Given the description of an element on the screen output the (x, y) to click on. 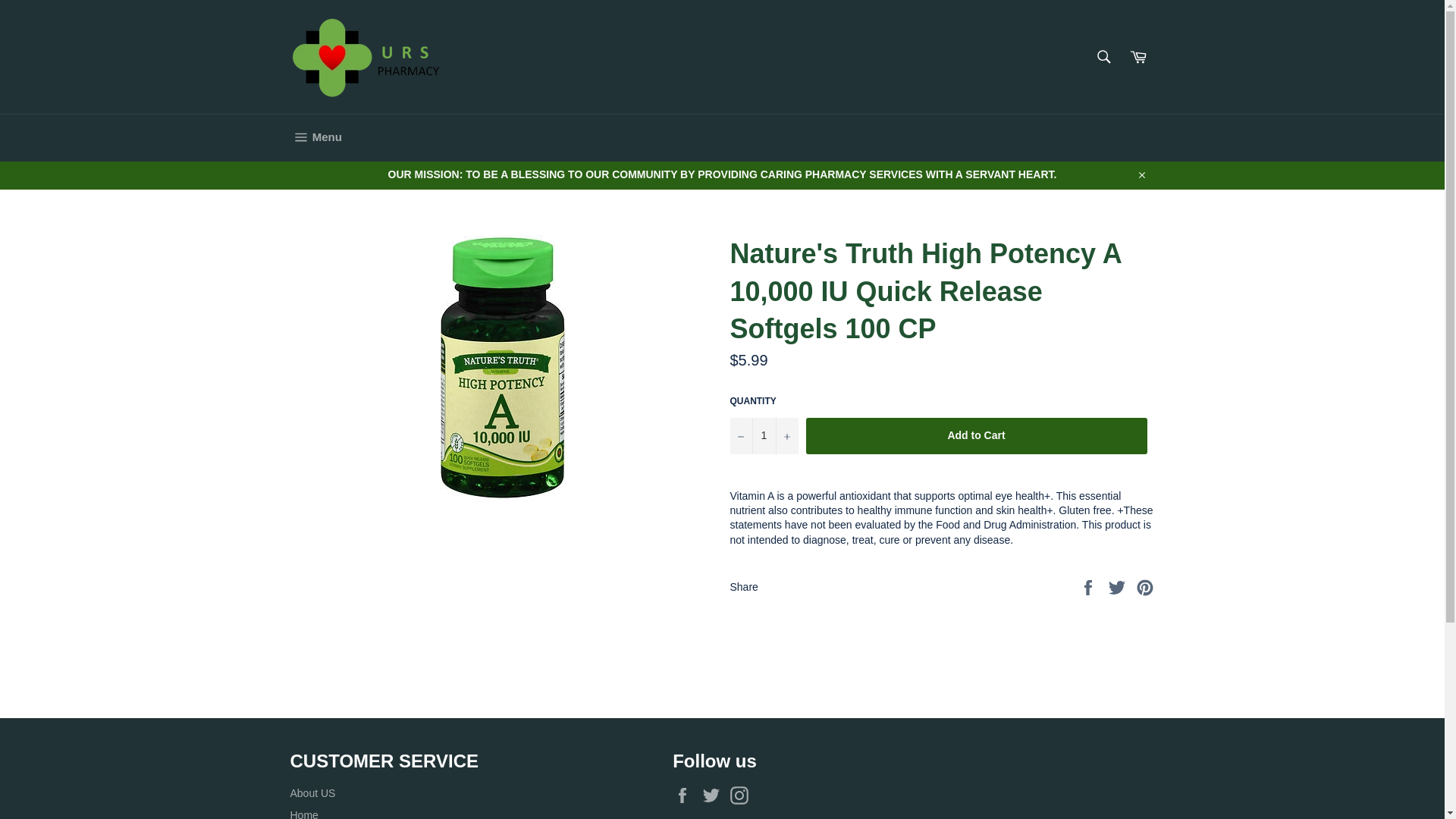
Tweet on Twitter (1118, 586)
Share on Facebook (1089, 586)
Pin on Pinterest (1144, 586)
URS Pharmacy on Instagram (742, 795)
URS Pharmacy on Facebook (685, 795)
URS Pharmacy on Twitter (714, 795)
1 (763, 435)
